Given the description of an element on the screen output the (x, y) to click on. 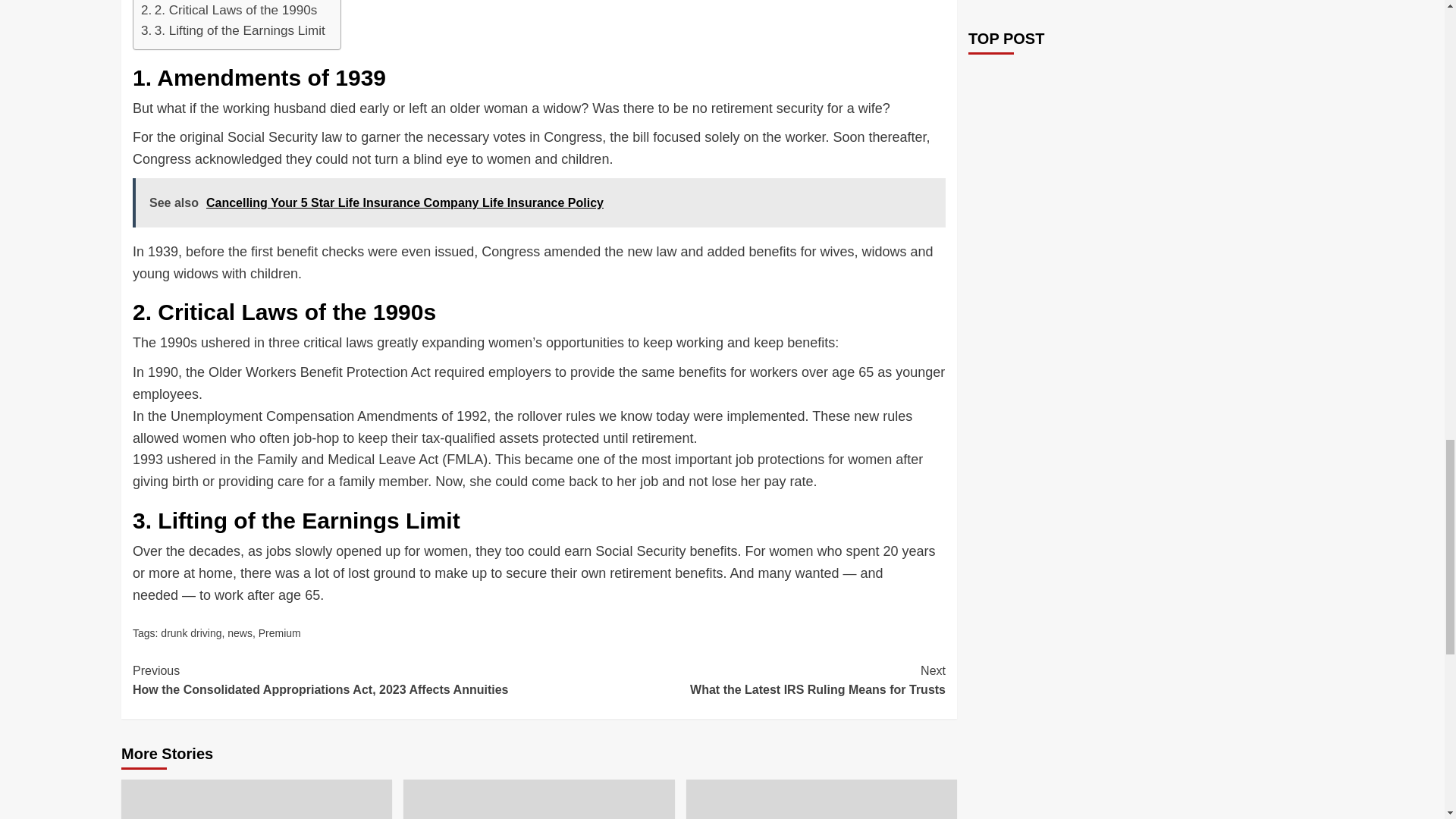
3. Lifting of the Earnings Limit (232, 30)
news (239, 633)
2. Critical Laws of the 1990s (229, 10)
2. Critical Laws of the 1990s (229, 10)
drunk driving (741, 680)
Premium (190, 633)
3. Lifting of the Earnings Limit (280, 633)
